Given the description of an element on the screen output the (x, y) to click on. 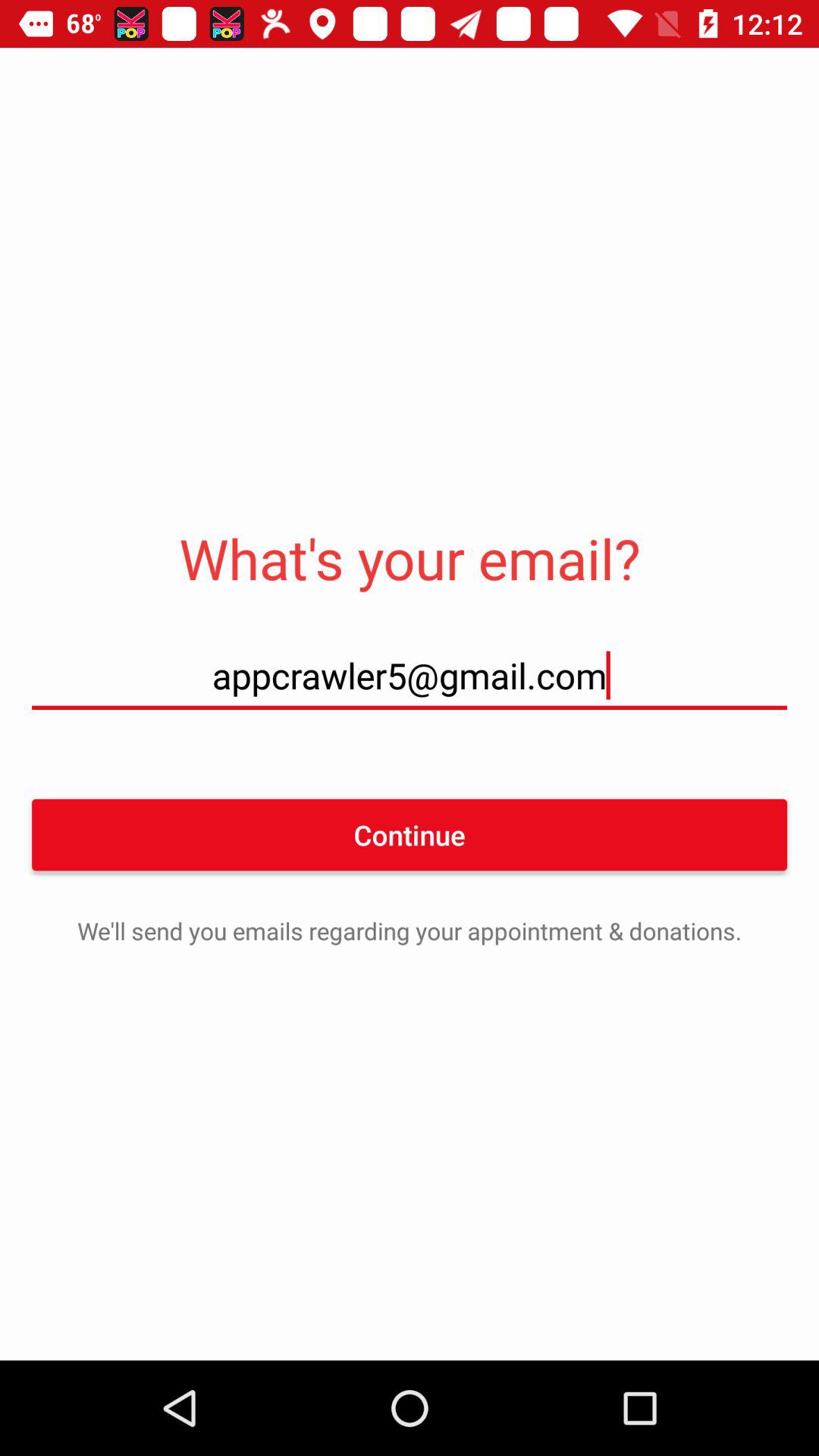
scroll to the continue item (409, 834)
